Given the description of an element on the screen output the (x, y) to click on. 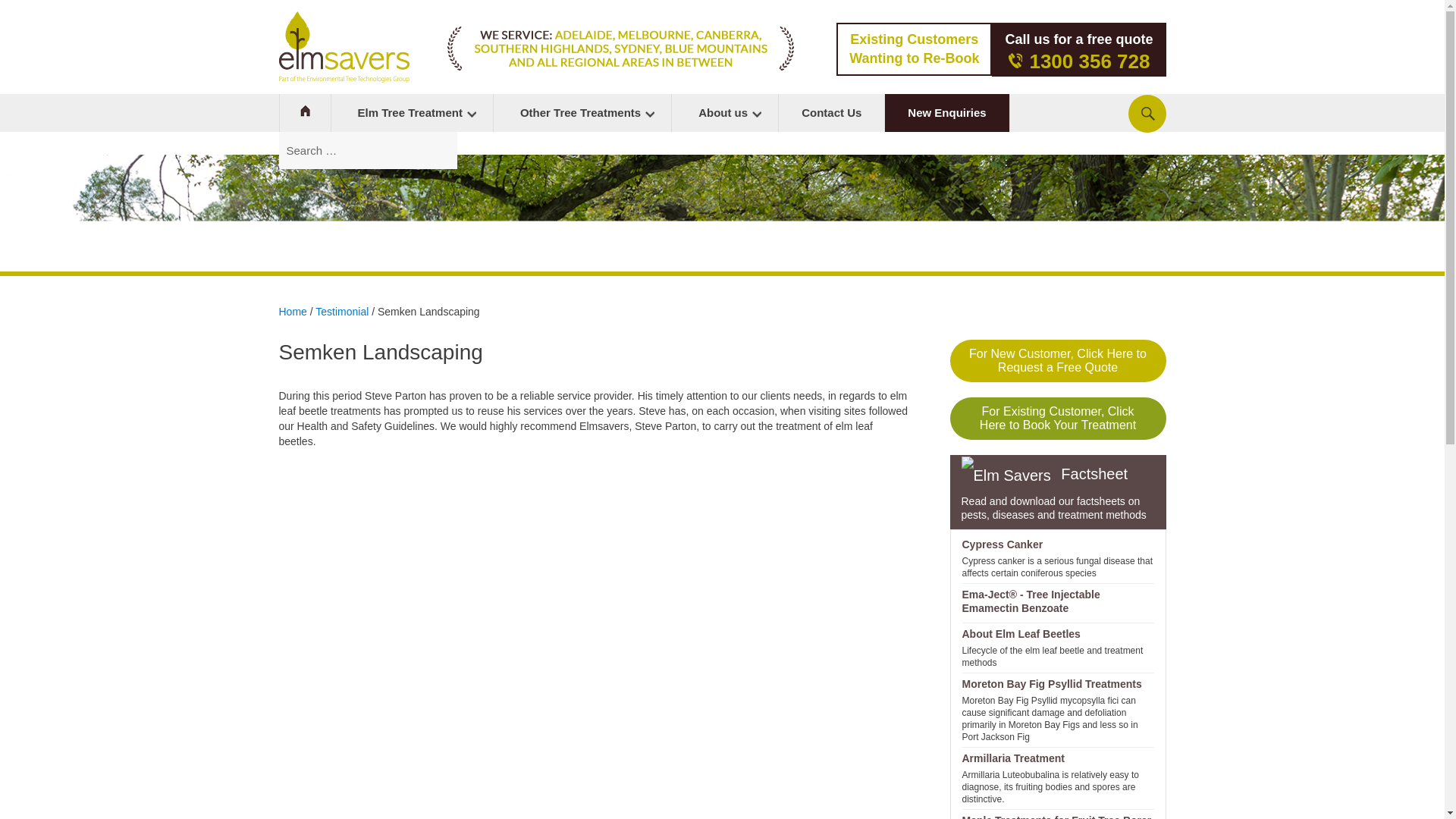
Other Tree Treatments (582, 112)
Contact Us (830, 112)
Elm Savers Phone (1014, 60)
Elm Savers (344, 46)
Elm Tree Treatment (913, 48)
New Enquiries (411, 112)
Elm Tree Treatment (947, 112)
About us (411, 112)
Elm Savers (724, 112)
